Given the description of an element on the screen output the (x, y) to click on. 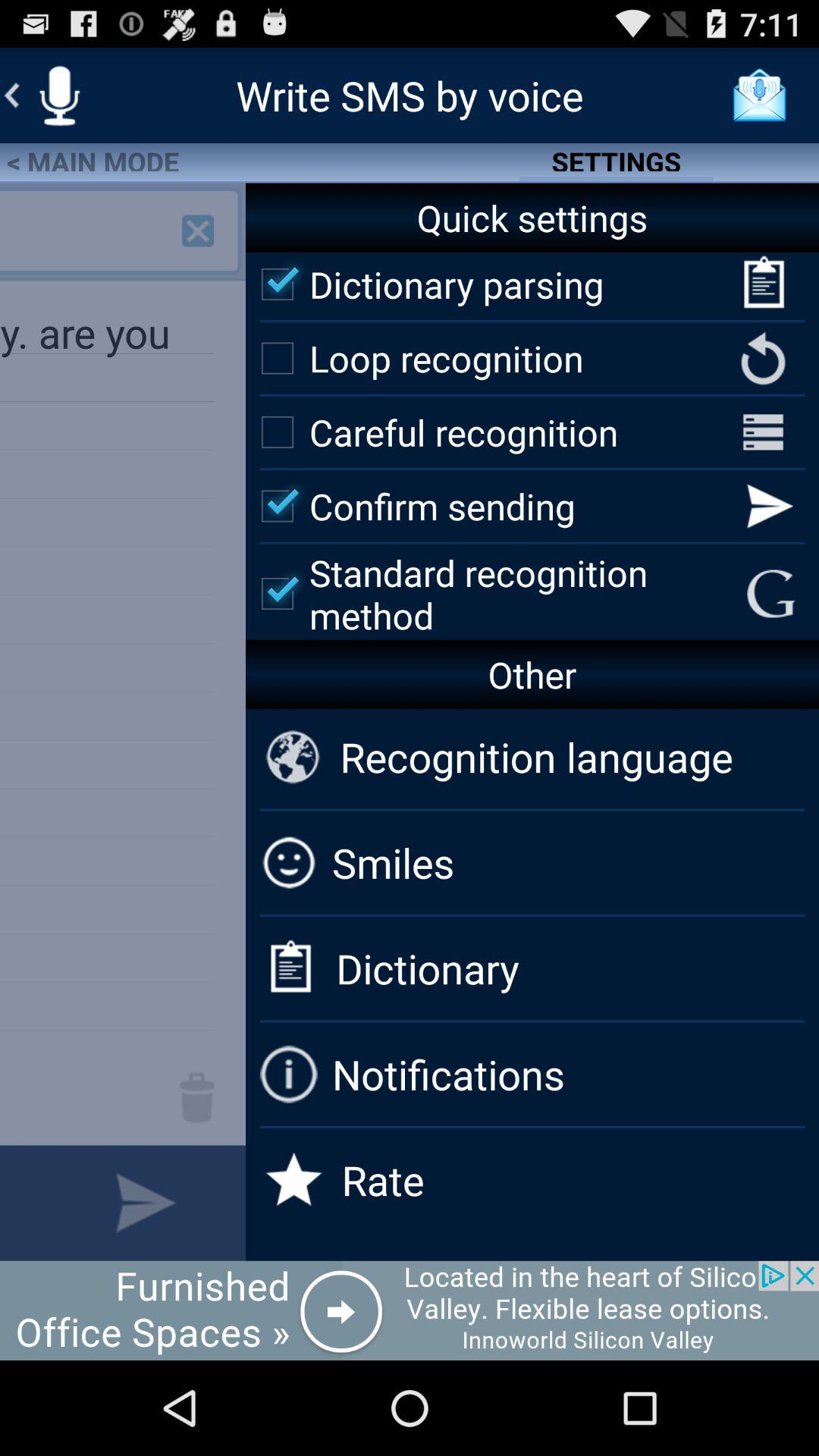
go to advertisement (409, 1310)
